Given the description of an element on the screen output the (x, y) to click on. 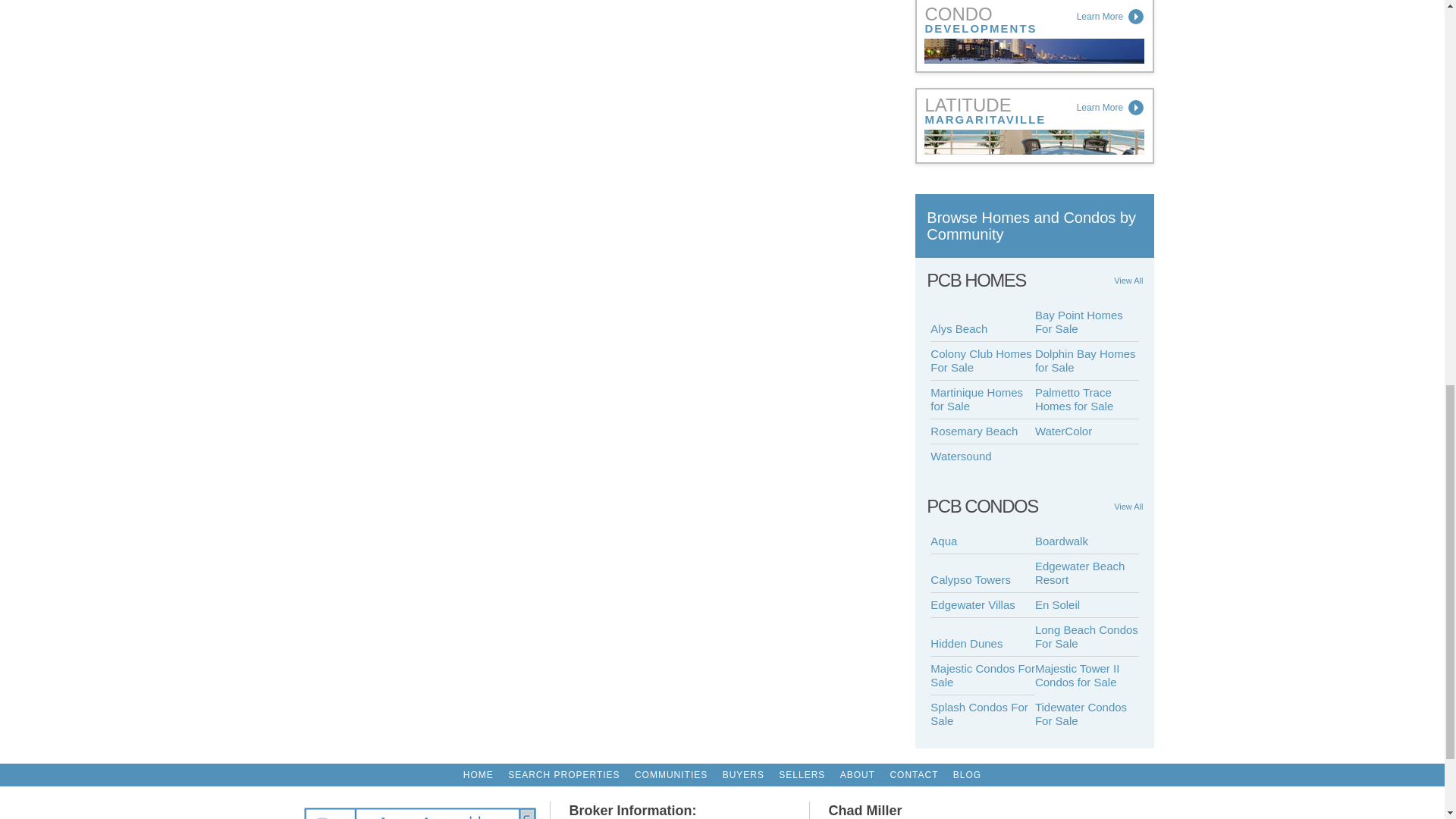
View En Soleil (1087, 605)
View Dolphin Bay Homes for Sale (1087, 361)
View Bay Point Homes For Sale (1087, 322)
View Edgewater Villas (982, 605)
View Colony Club Homes For Sale (982, 361)
View Alys Beach (982, 329)
View Long Beach Condos For Sale (1087, 637)
View Hidden Dunes (982, 643)
View Boardwalk (1087, 541)
View Aqua (982, 541)
